Given the description of an element on the screen output the (x, y) to click on. 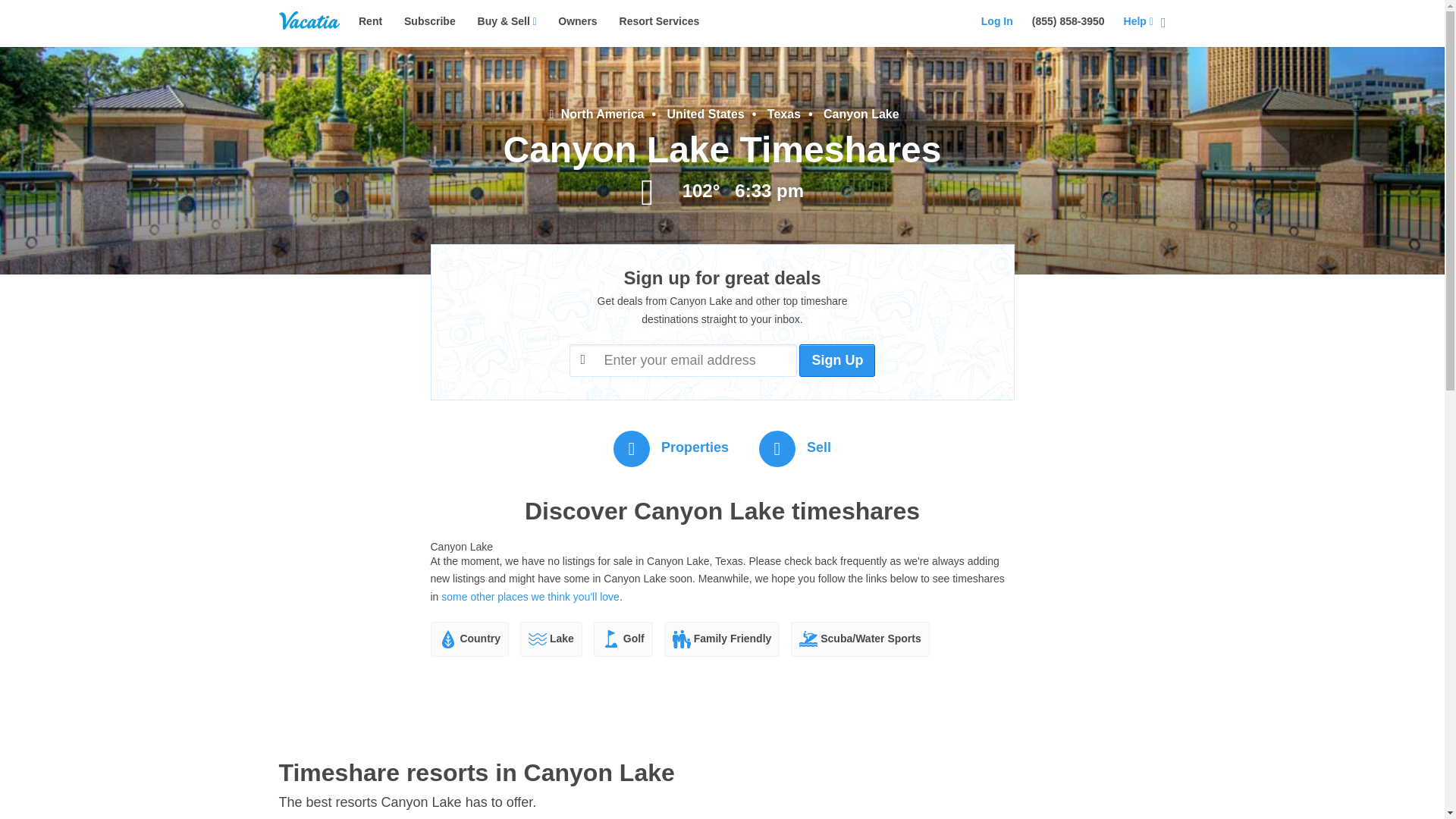
Subscribe (429, 21)
Resort Services (660, 21)
Owners (576, 21)
Help (1138, 21)
Rent (369, 21)
